Given the description of an element on the screen output the (x, y) to click on. 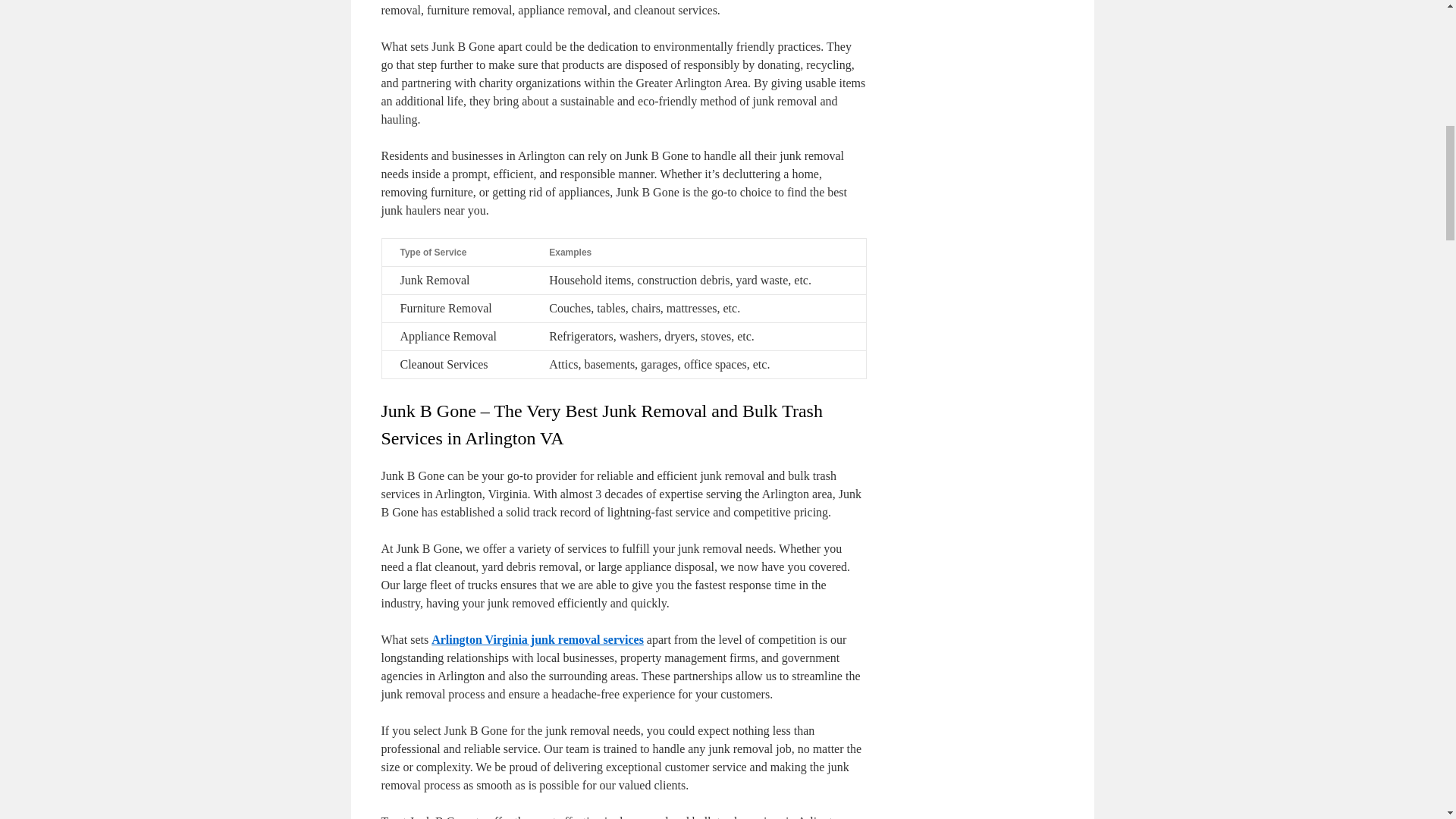
Arlington Virginia junk removal services (536, 639)
